Given the description of an element on the screen output the (x, y) to click on. 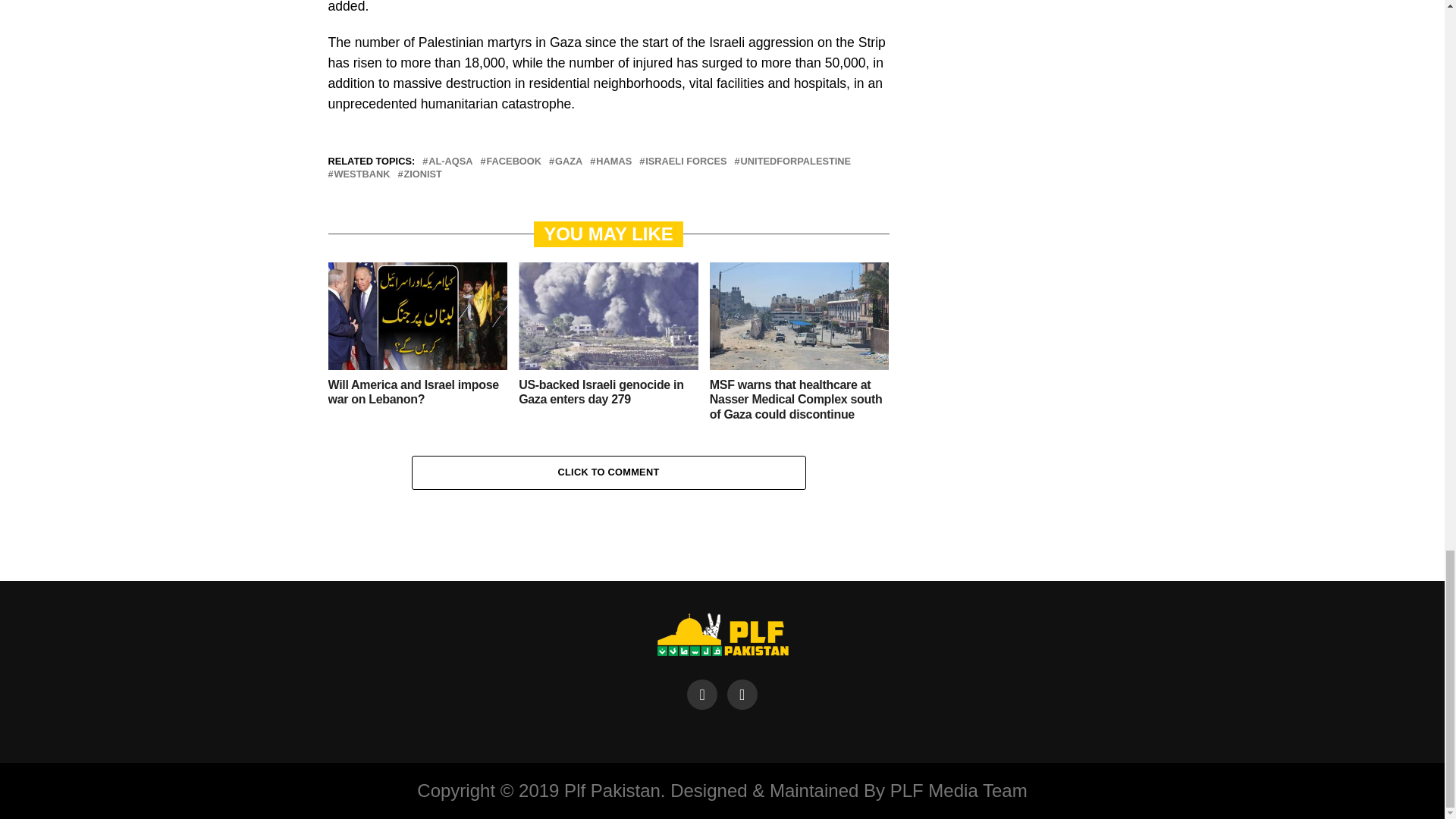
AL-AQSA (449, 162)
FACEBOOK (513, 162)
